Given the description of an element on the screen output the (x, y) to click on. 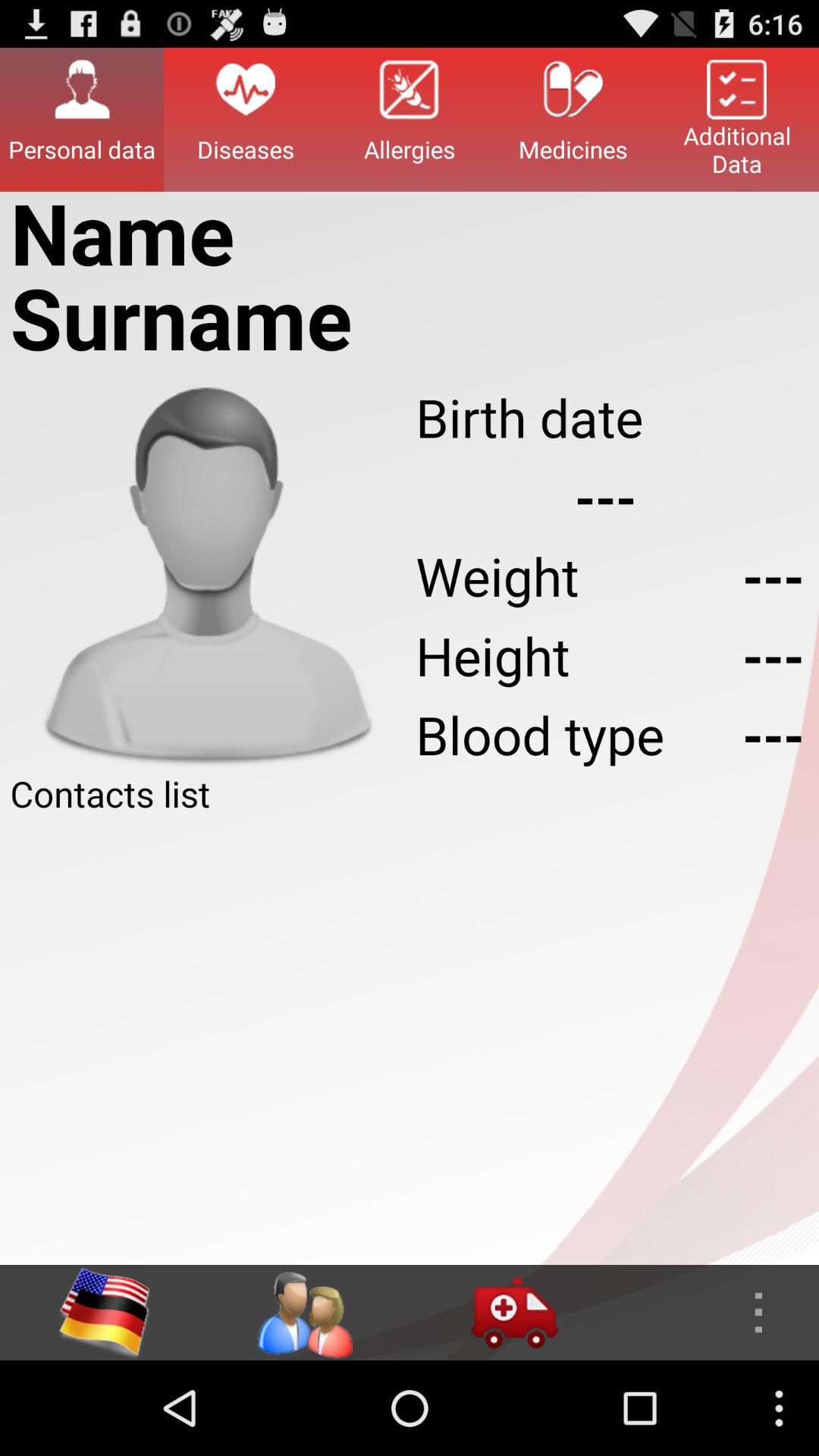
launch the icon to the right of personal data item (245, 119)
